Given the description of an element on the screen output the (x, y) to click on. 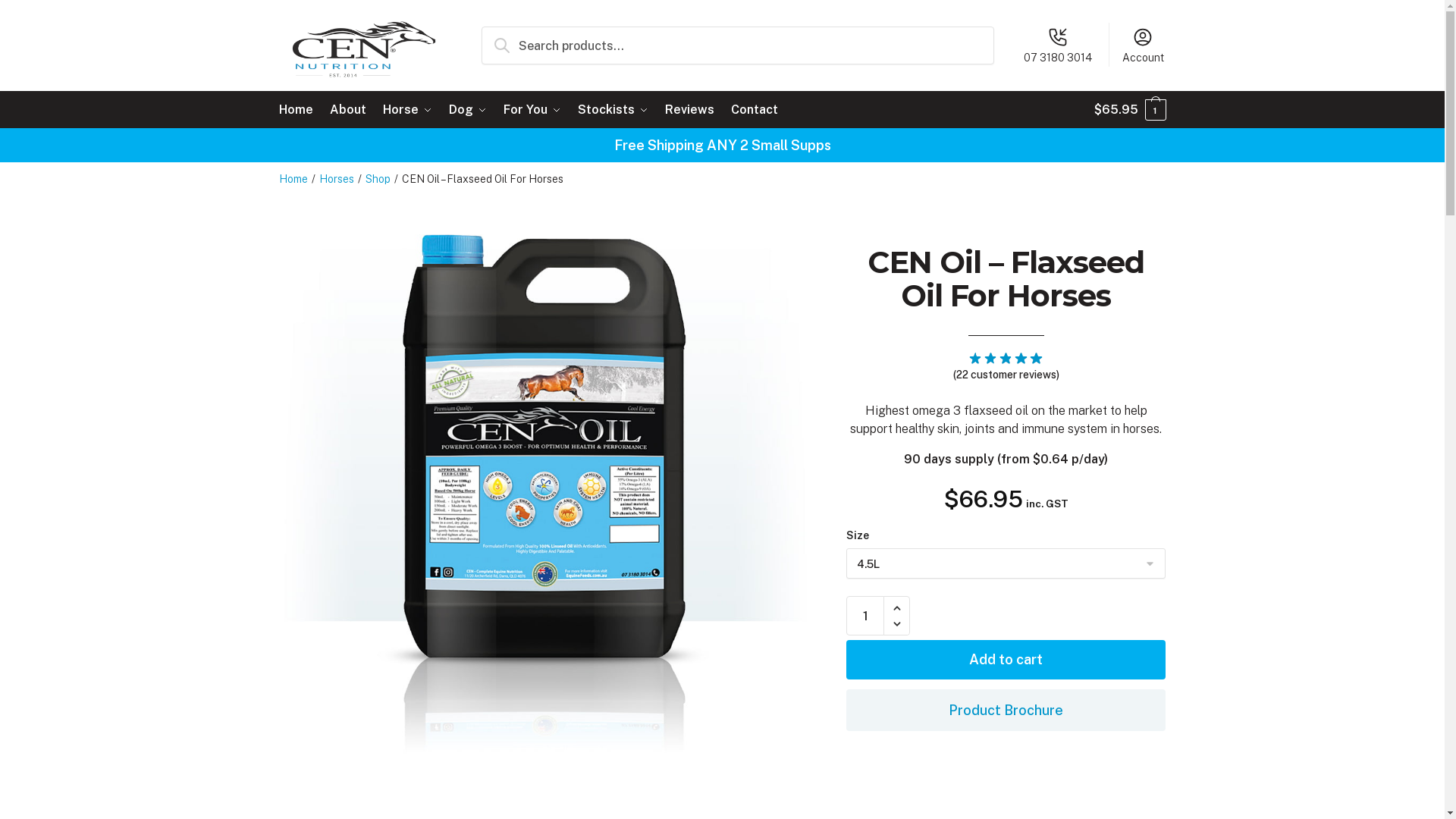
About Element type: text (348, 109)
07 3180 3014 Element type: text (1057, 44)
Stockists Element type: text (613, 109)
Dog Element type: text (467, 109)
Add to cart Element type: text (1005, 659)
Search Element type: text (507, 38)
(22 customer reviews) Element type: text (1006, 374)
For You Element type: text (531, 109)
Home Element type: text (299, 109)
$65.95 1 Element type: text (1129, 109)
horse-oil-4500ml Element type: hover (545, 487)
Horses Element type: text (335, 178)
Horse Element type: text (407, 109)
Account Element type: text (1143, 44)
Contact Element type: text (754, 109)
Reviews Element type: text (689, 109)
Product Brochure Element type: text (1005, 710)
Shop Element type: text (377, 178)
Home Element type: text (293, 178)
